Given the description of an element on the screen output the (x, y) to click on. 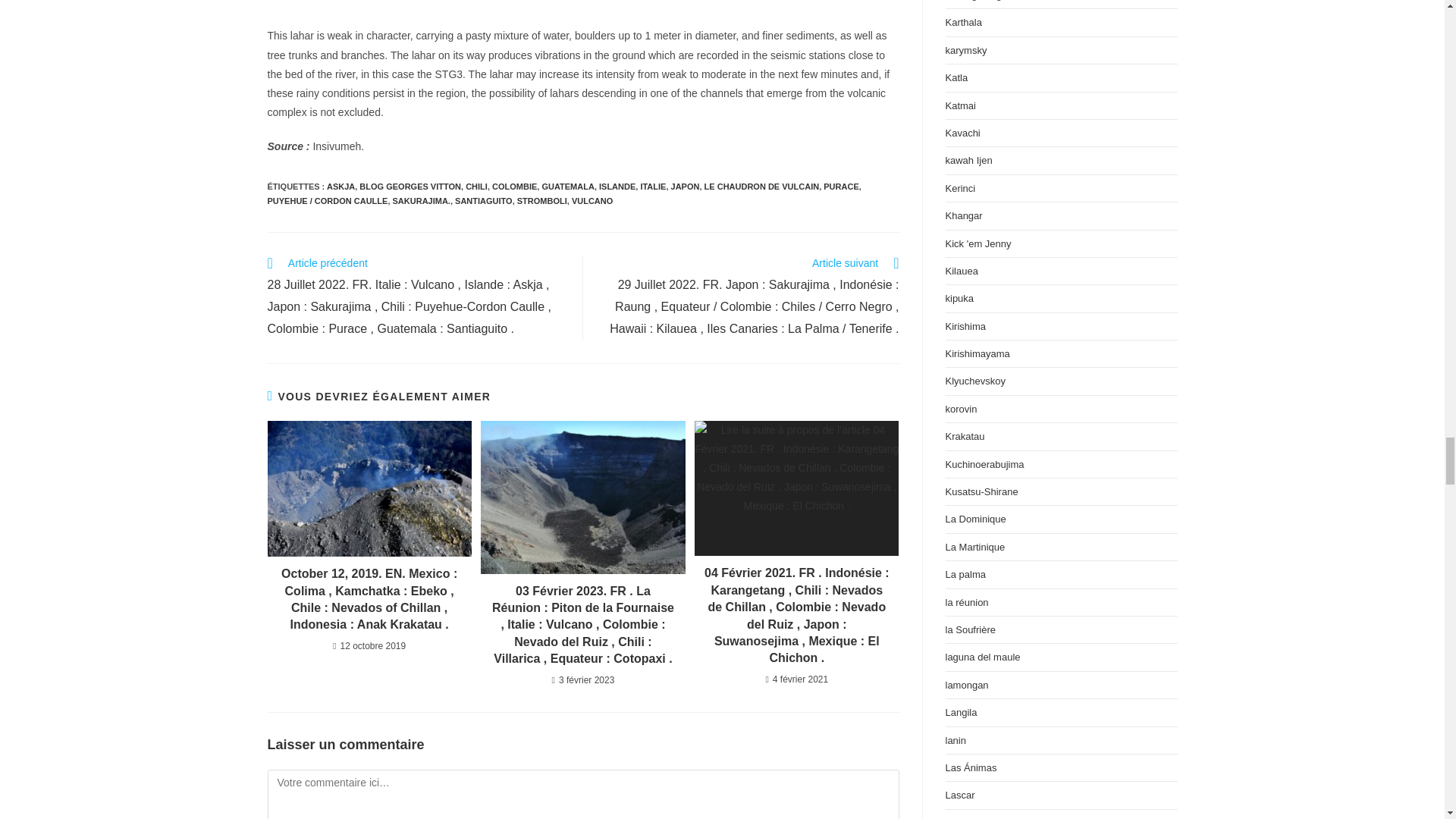
CHILI (476, 185)
ISLANDE (616, 185)
COLOMBIE (514, 185)
ASKJA (340, 185)
GUATEMALA (567, 185)
BLOG GEORGES VITTON (410, 185)
